Given the description of an element on the screen output the (x, y) to click on. 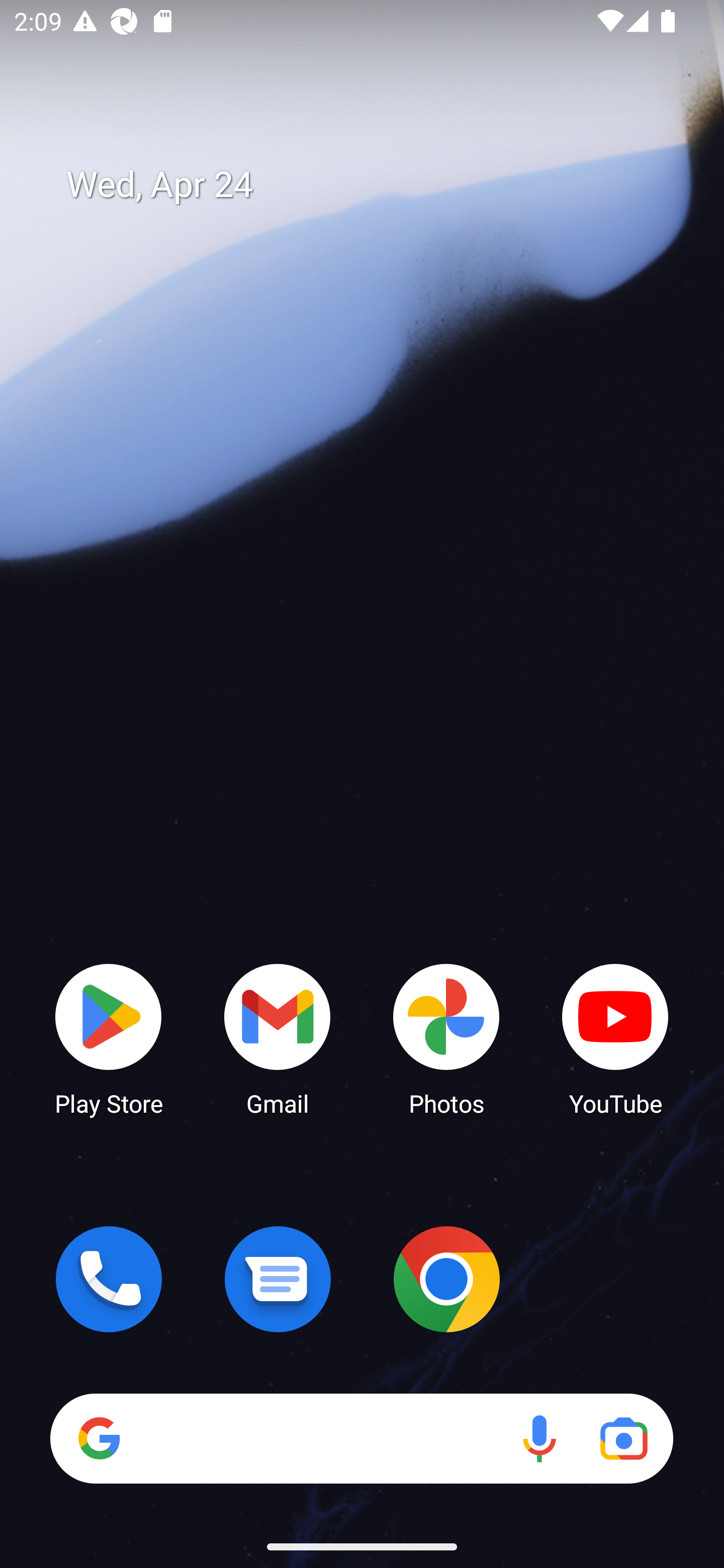
Wed, Apr 24 (375, 184)
Play Store (108, 1038)
Gmail (277, 1038)
Photos (445, 1038)
YouTube (615, 1038)
Phone (108, 1279)
Messages (277, 1279)
Chrome (446, 1279)
Search Voice search Google Lens (361, 1438)
Voice search (539, 1438)
Google Lens (623, 1438)
